Given the description of an element on the screen output the (x, y) to click on. 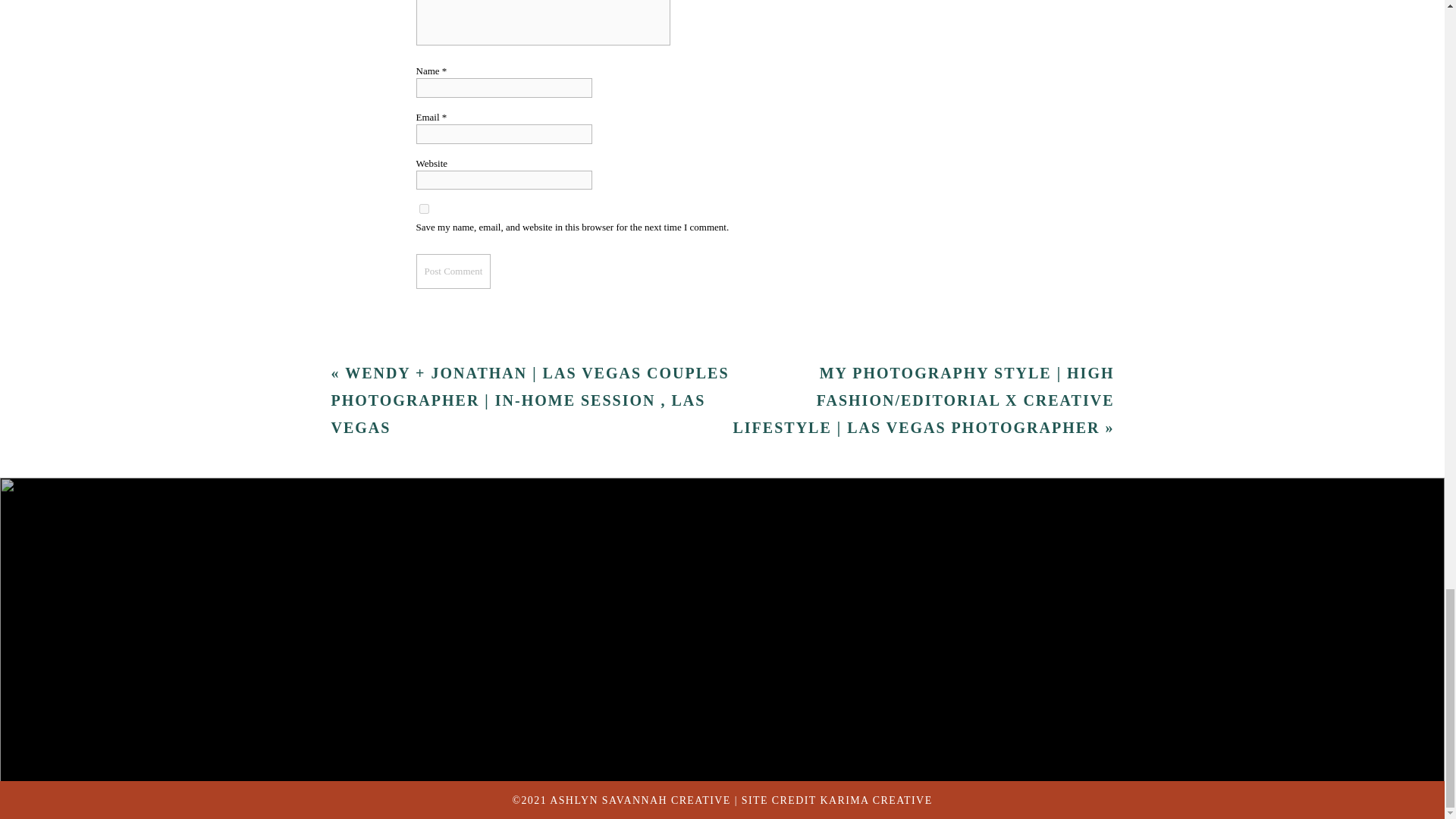
Post Comment (452, 454)
yes (423, 392)
Post Comment (452, 454)
